Given the description of an element on the screen output the (x, y) to click on. 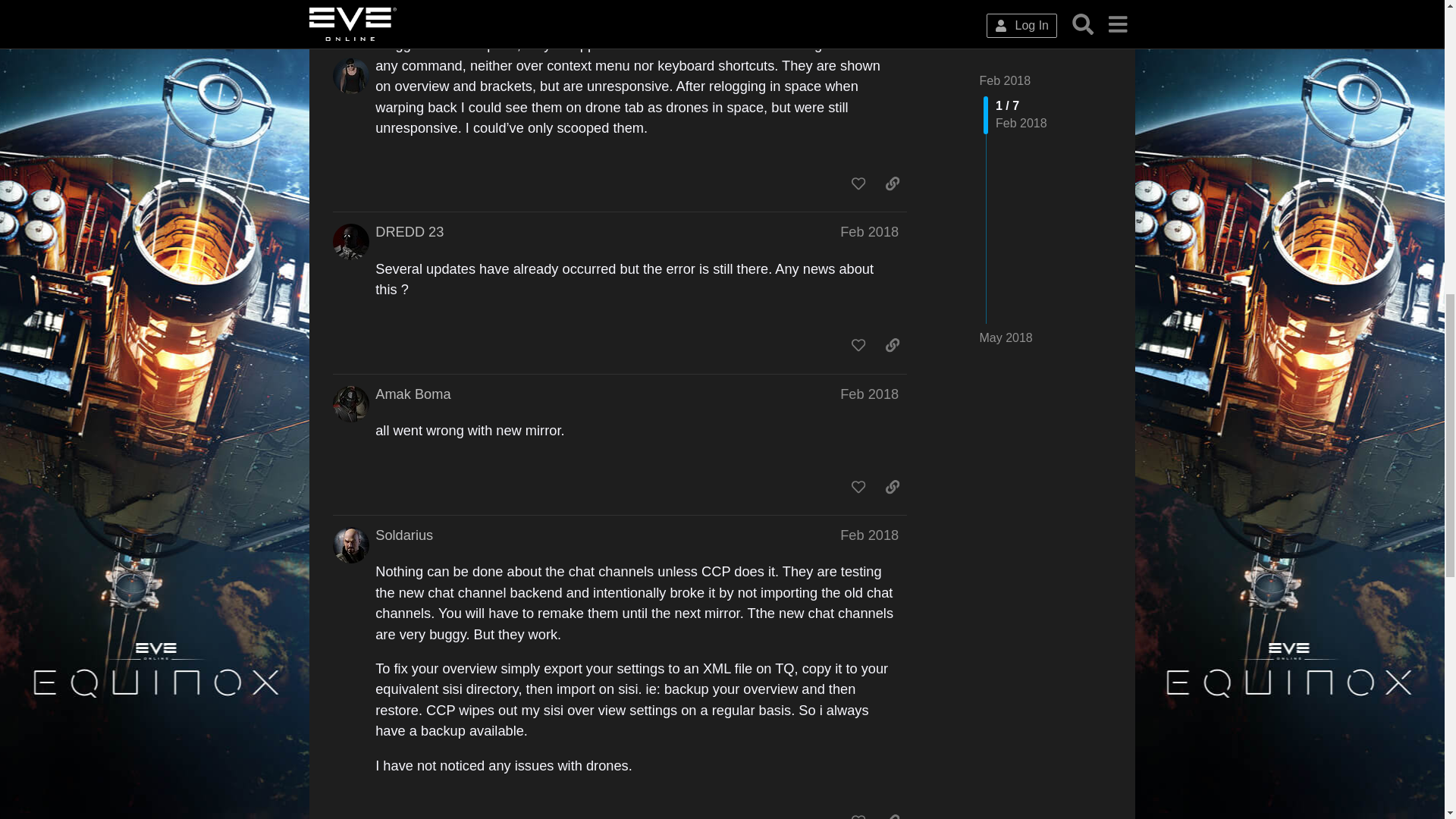
DREDD 23 (409, 231)
Feb 2018 (869, 232)
